Given the description of an element on the screen output the (x, y) to click on. 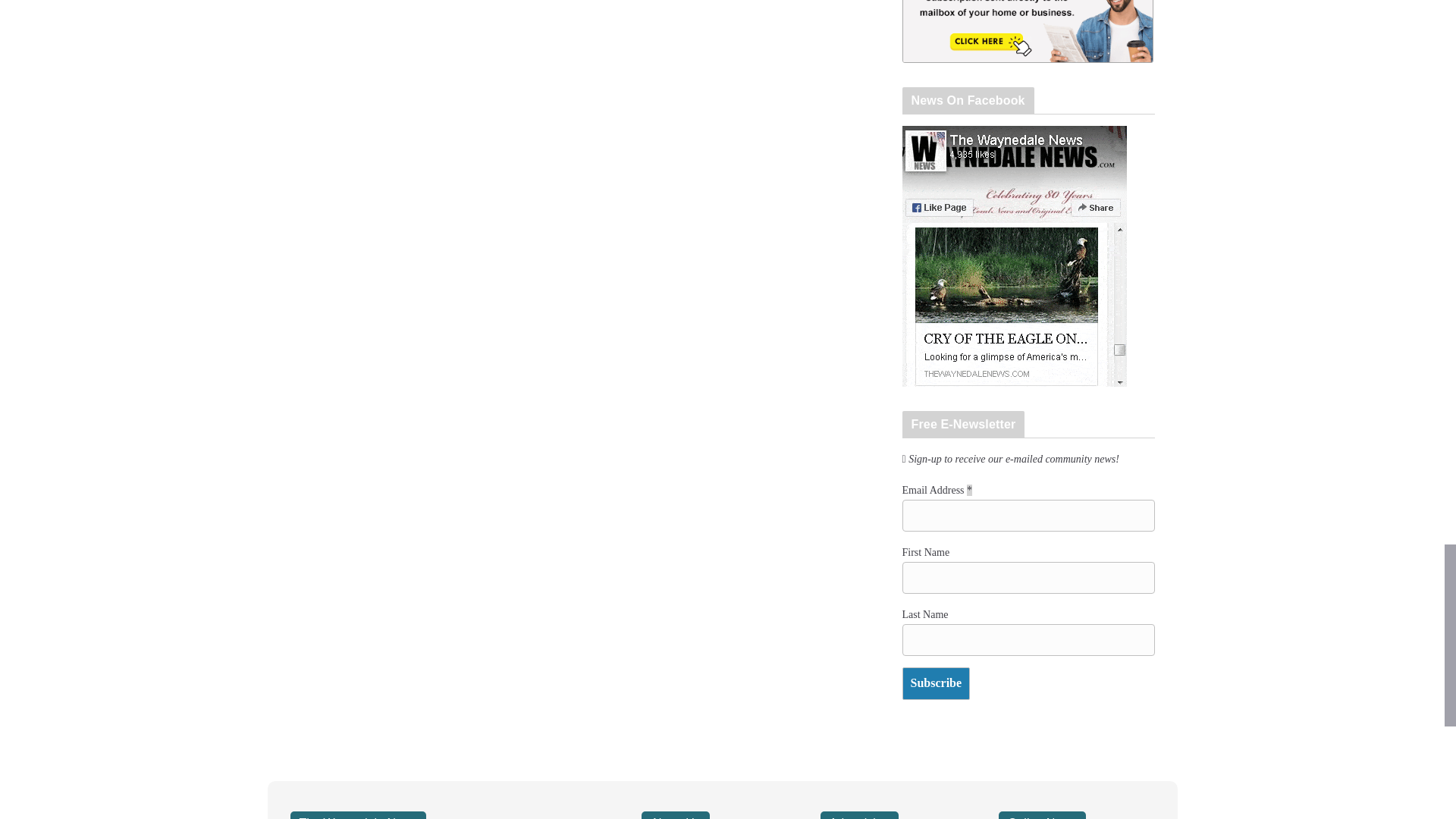
Subscribe (936, 683)
